Given the description of an element on the screen output the (x, y) to click on. 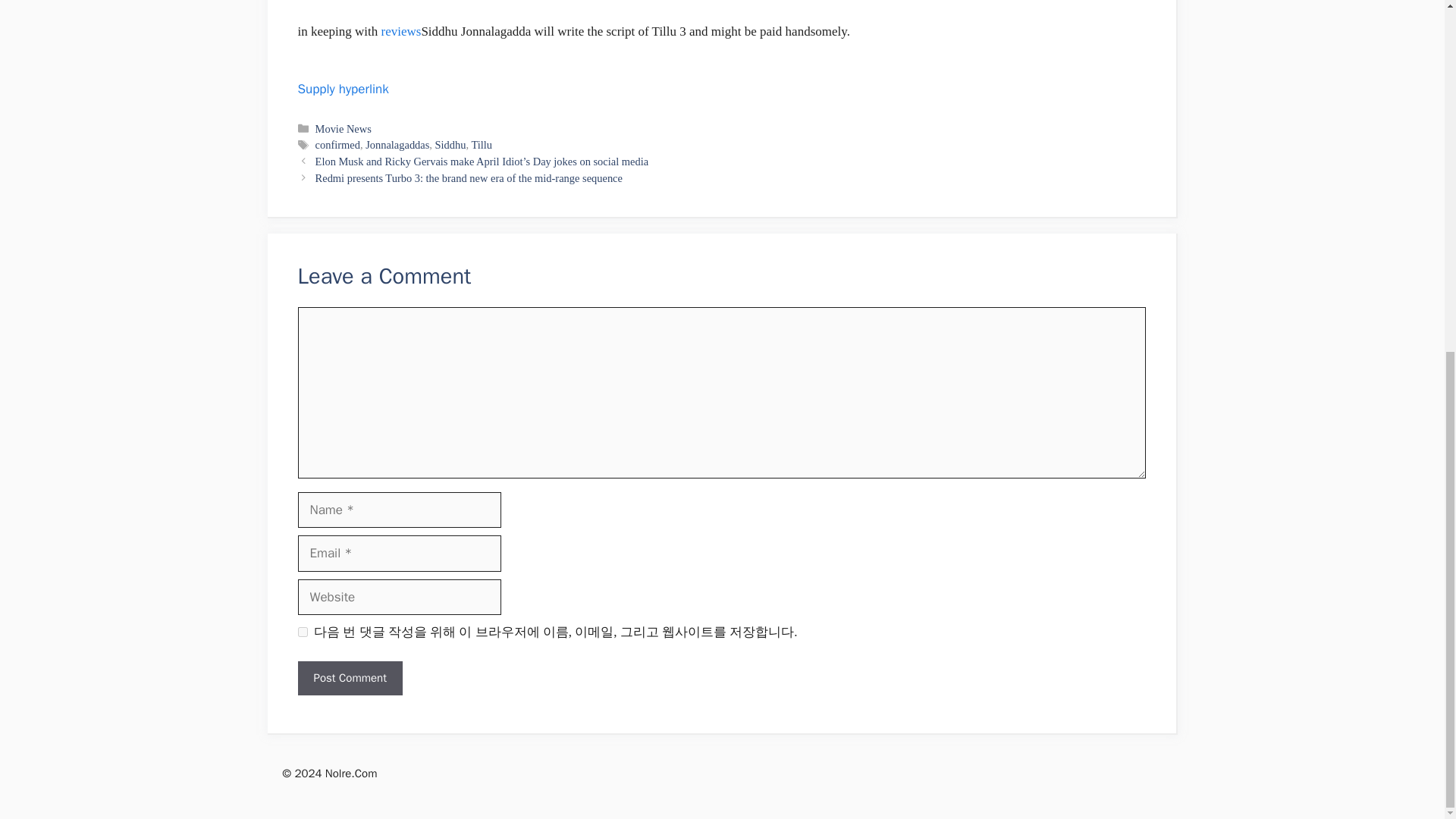
yes (302, 632)
Post Comment (349, 677)
